Given the description of an element on the screen output the (x, y) to click on. 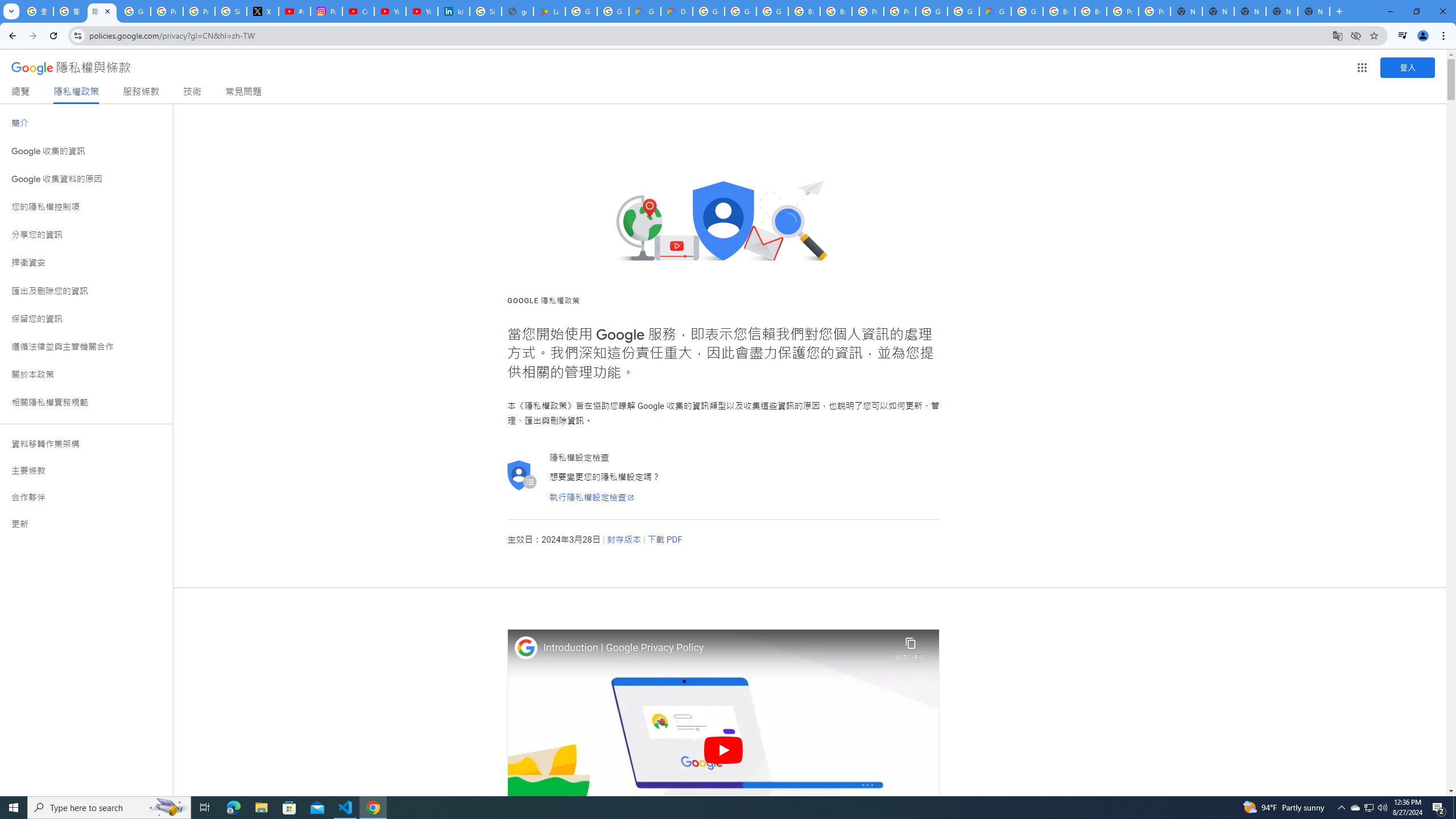
Browse Chrome as a guest - Computer - Google Chrome Help (804, 11)
google_privacy_policy_en.pdf (517, 11)
#nbabasketballhighlights - YouTube (294, 11)
Sign in - Google Accounts (485, 11)
